Given the description of an element on the screen output the (x, y) to click on. 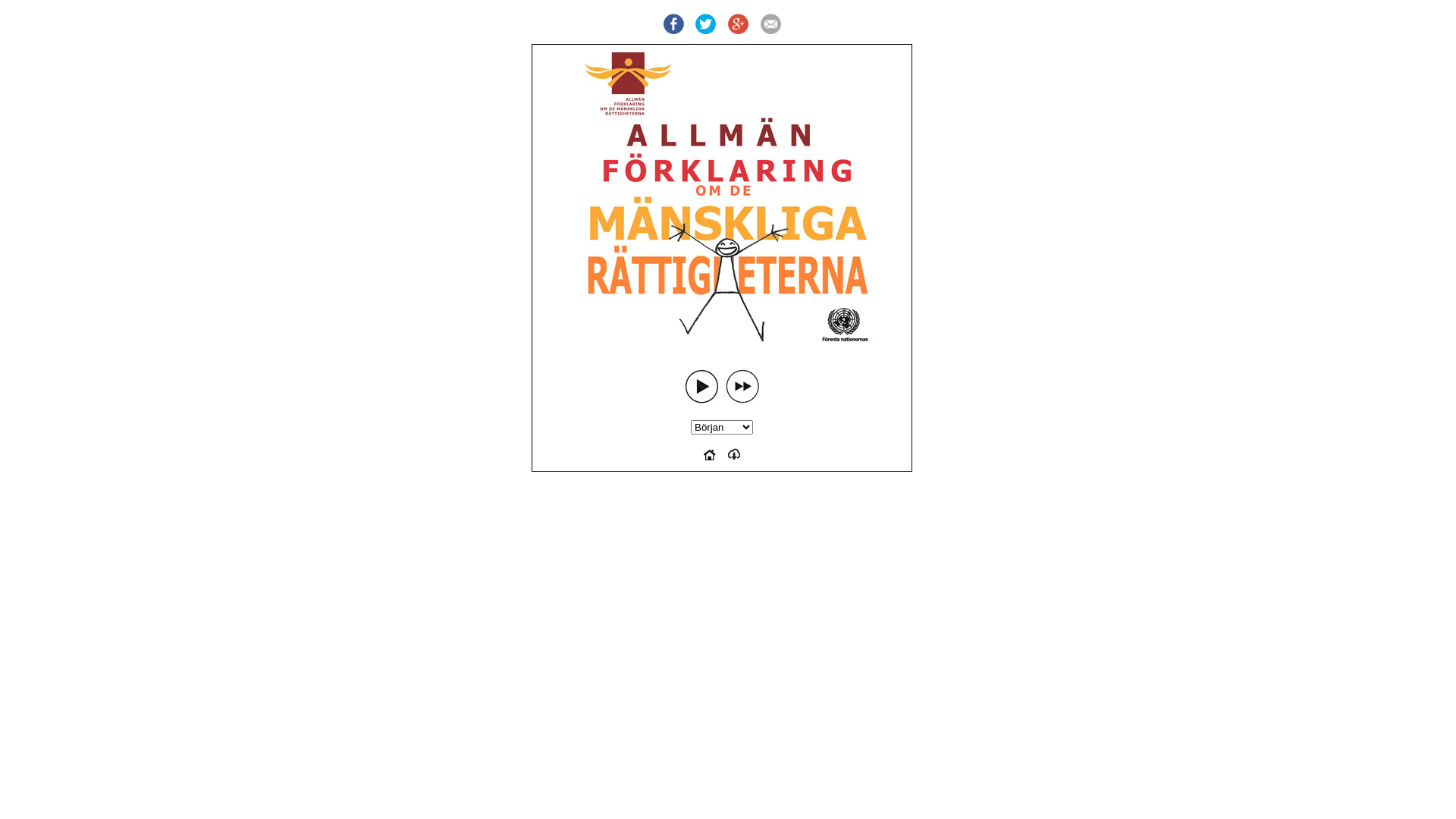
Google + Element type: hover (737, 24)
Download Element type: hover (734, 455)
Starta Element type: hover (701, 385)
Email Element type: hover (770, 24)
Home Element type: hover (709, 455)
Twitter Element type: hover (705, 24)
Facebook Element type: hover (672, 24)
